Given the description of an element on the screen output the (x, y) to click on. 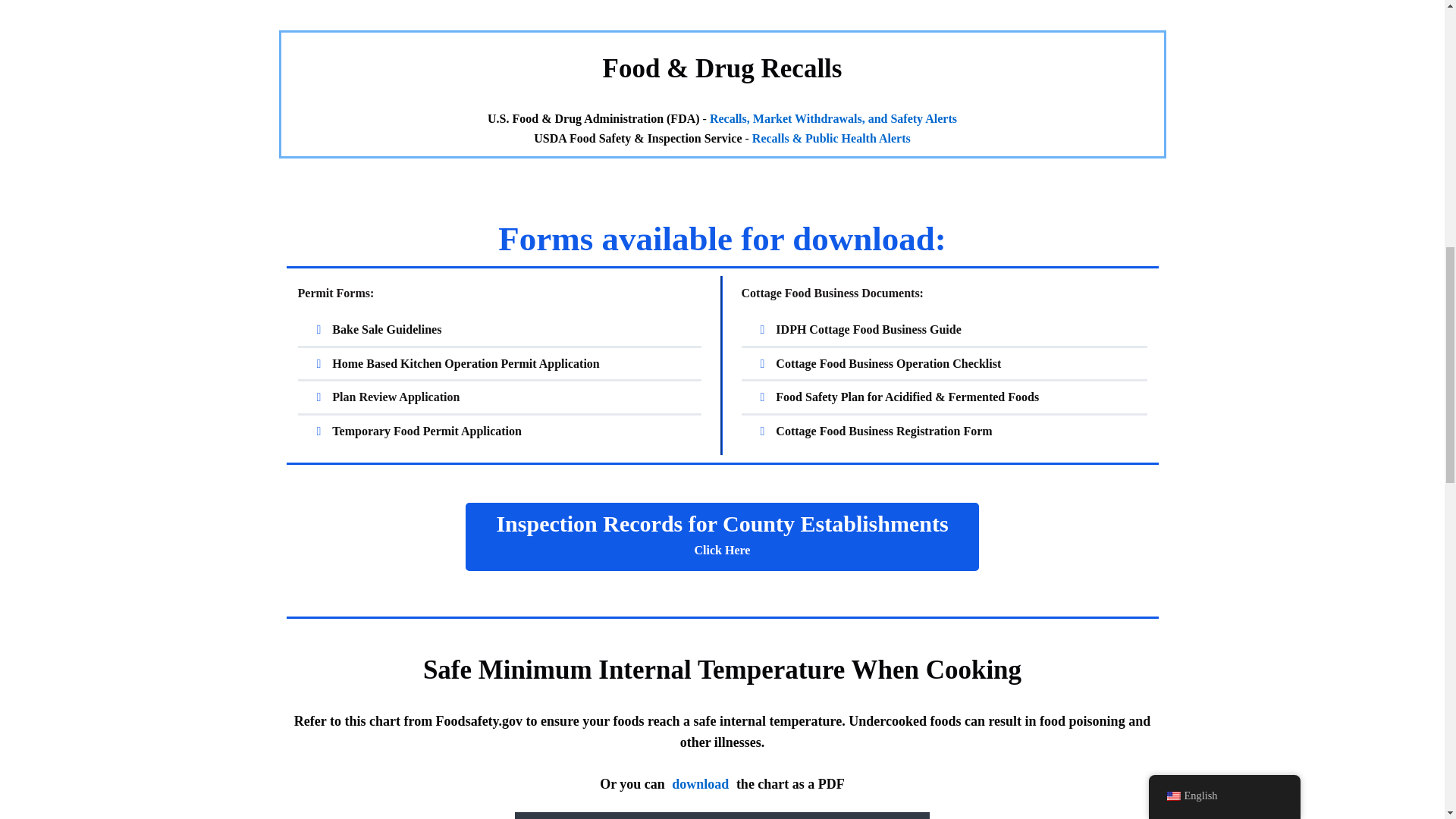
Temporary Food Permit Application (721, 536)
Food Temp Chart (499, 431)
Home Based Kitchen Operation Permit Application (721, 814)
Bake Sale Guidelines (499, 364)
Recalls, Market Withdrawals, and Safety Alerts (499, 329)
Cottage Food Business Operation Checklist (833, 118)
Cottage Food Business Registration Form (943, 364)
IDPH Cottage Food Business Guide (943, 431)
download (943, 329)
